Given the description of an element on the screen output the (x, y) to click on. 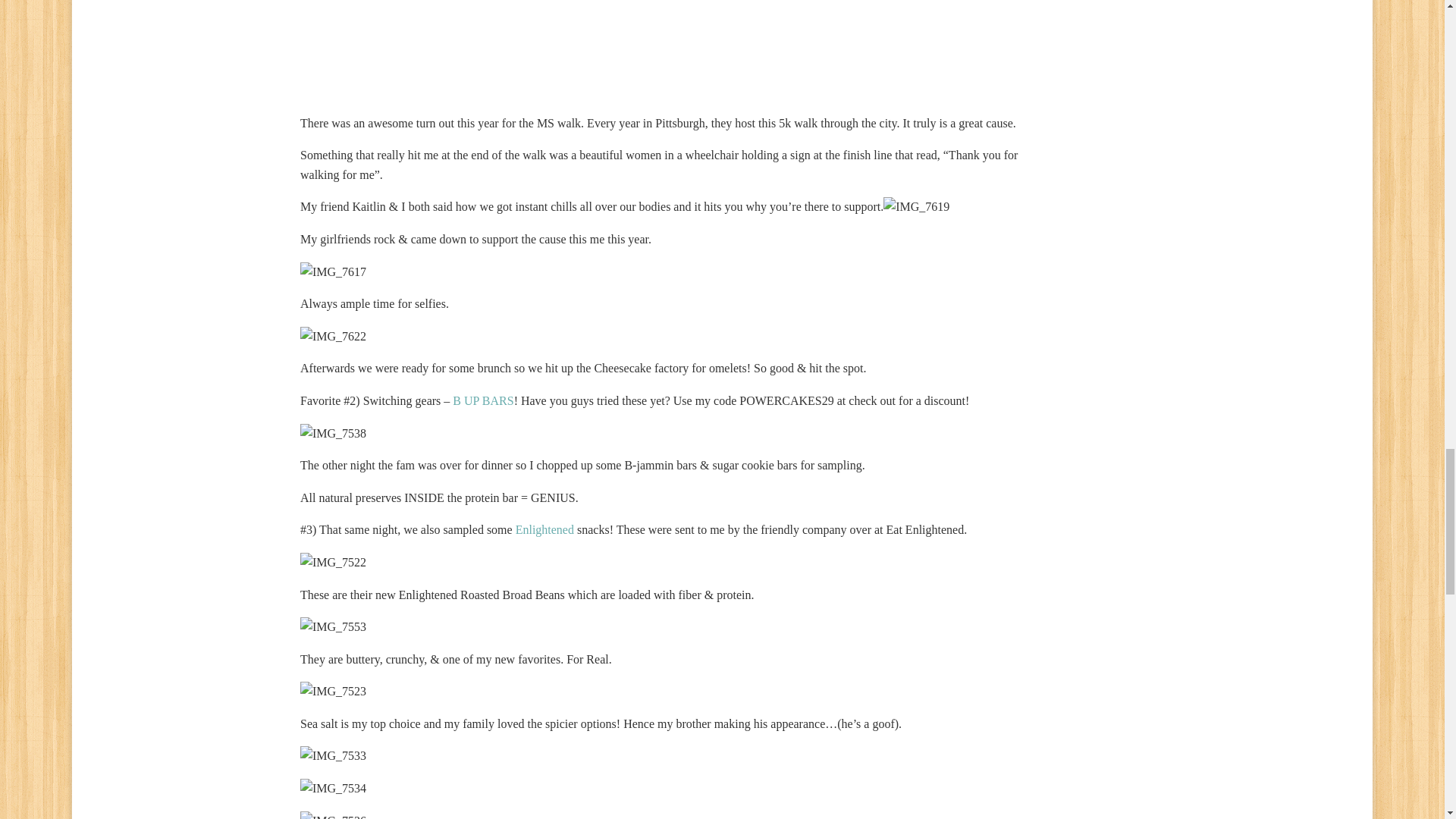
B UP BARS (482, 400)
Enlightened (544, 529)
